Given the description of an element on the screen output the (x, y) to click on. 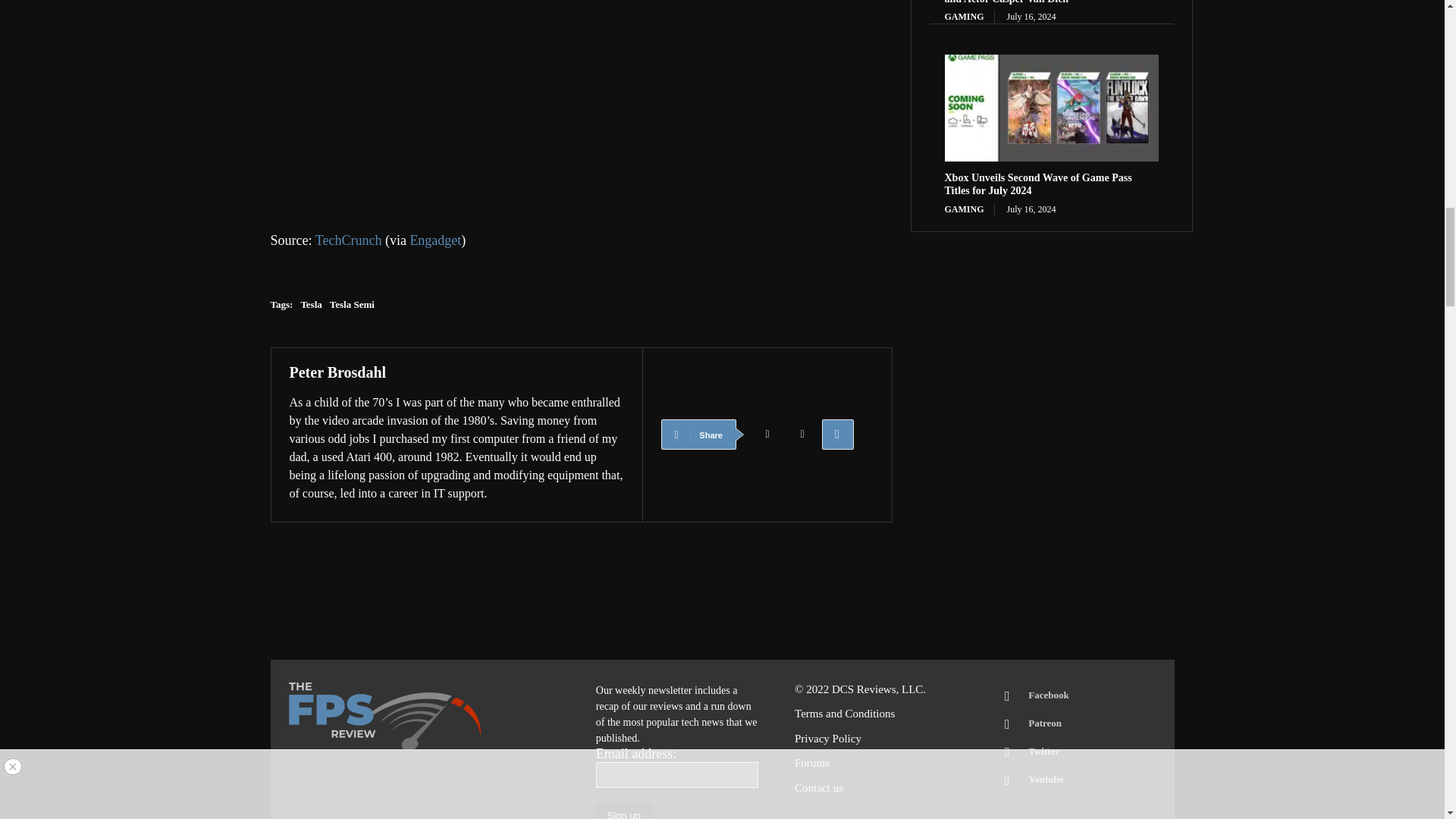
Sign up (623, 811)
